Given the description of an element on the screen output the (x, y) to click on. 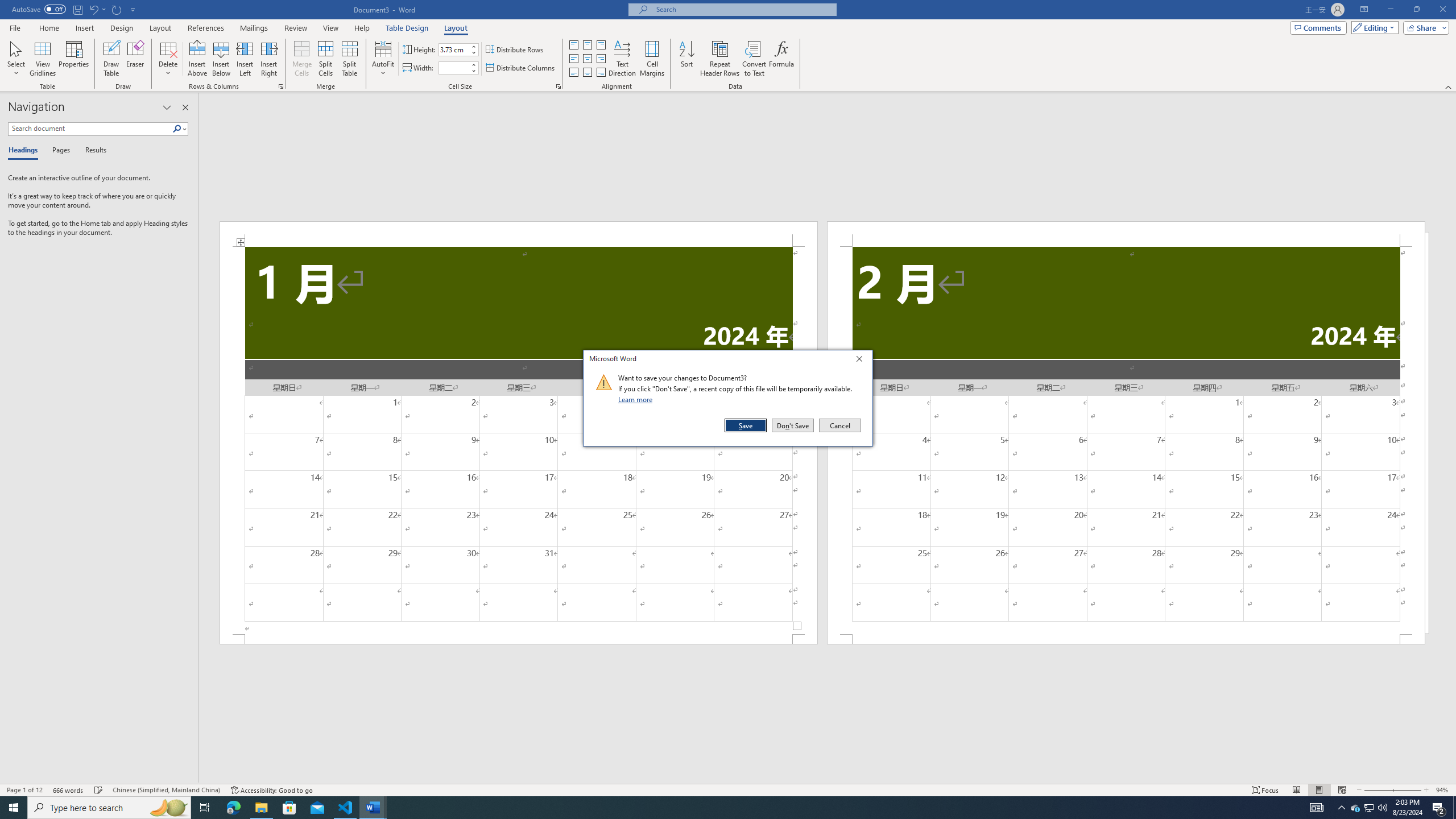
Distribute Columns (521, 67)
Insert Cells... (280, 85)
Microsoft Store (289, 807)
Convert to Text... (754, 58)
Task View (204, 807)
Cell Margins... (652, 58)
Align Top Justified (573, 44)
Text Direction (622, 58)
